Given the description of an element on the screen output the (x, y) to click on. 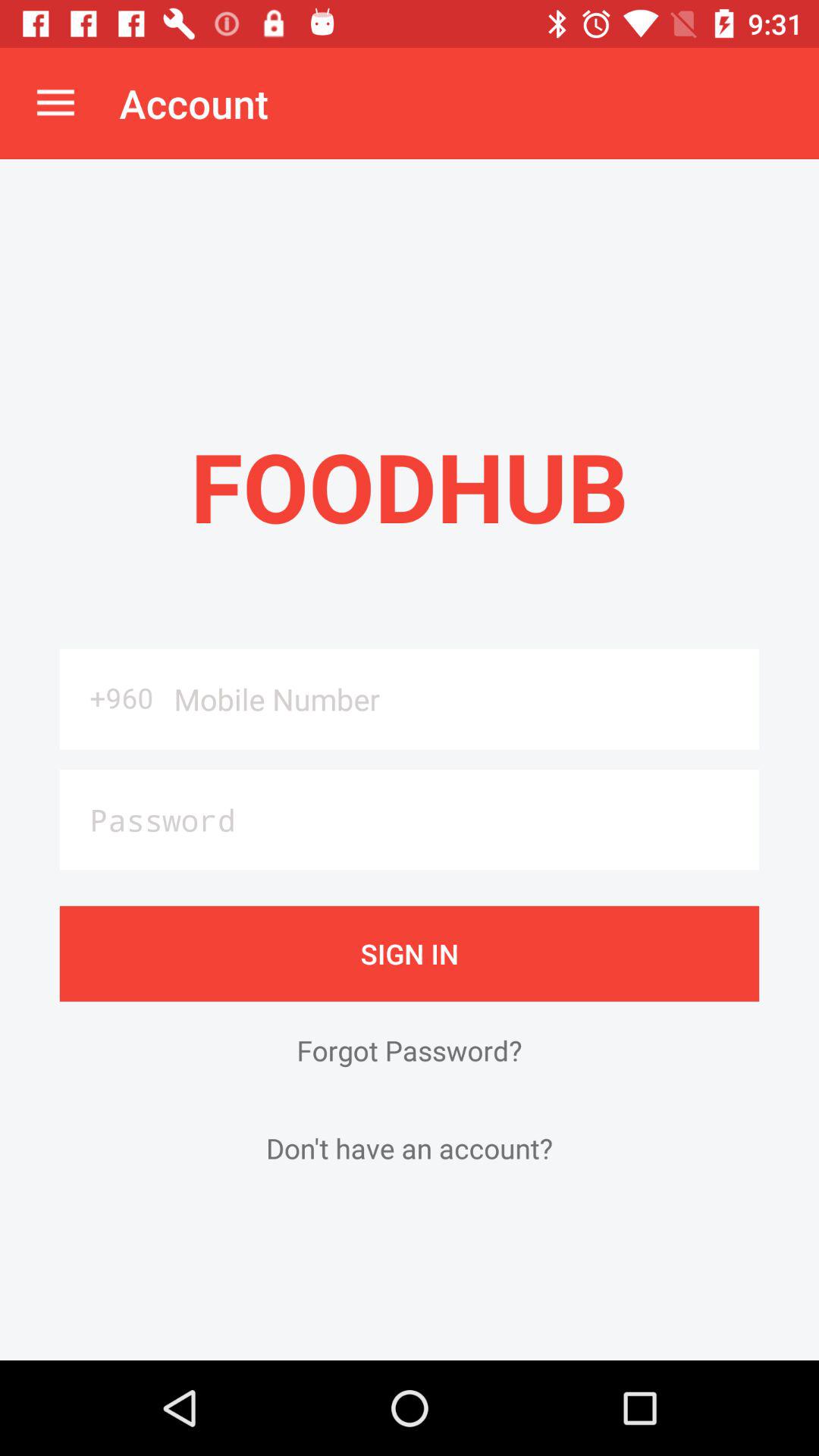
choose item on the left (111, 697)
